Given the description of an element on the screen output the (x, y) to click on. 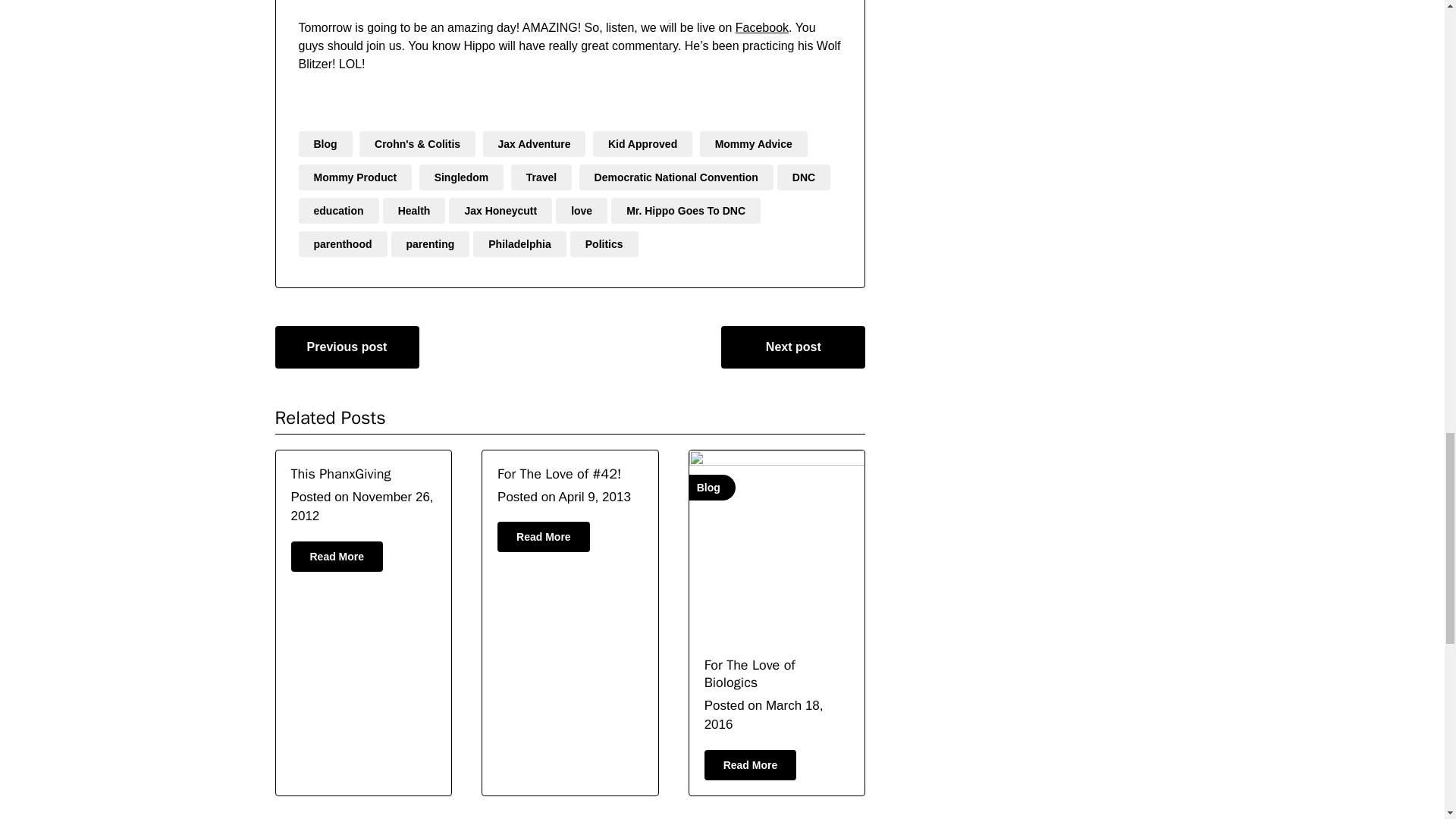
education (338, 210)
Kid Approved (642, 144)
Jax Adventure (534, 144)
Singledom (461, 177)
Blog (325, 144)
Facebook (762, 27)
Mommy Product (355, 177)
Democratic National Convention (676, 177)
Travel (541, 177)
Mommy Advice (754, 144)
